Given the description of an element on the screen output the (x, y) to click on. 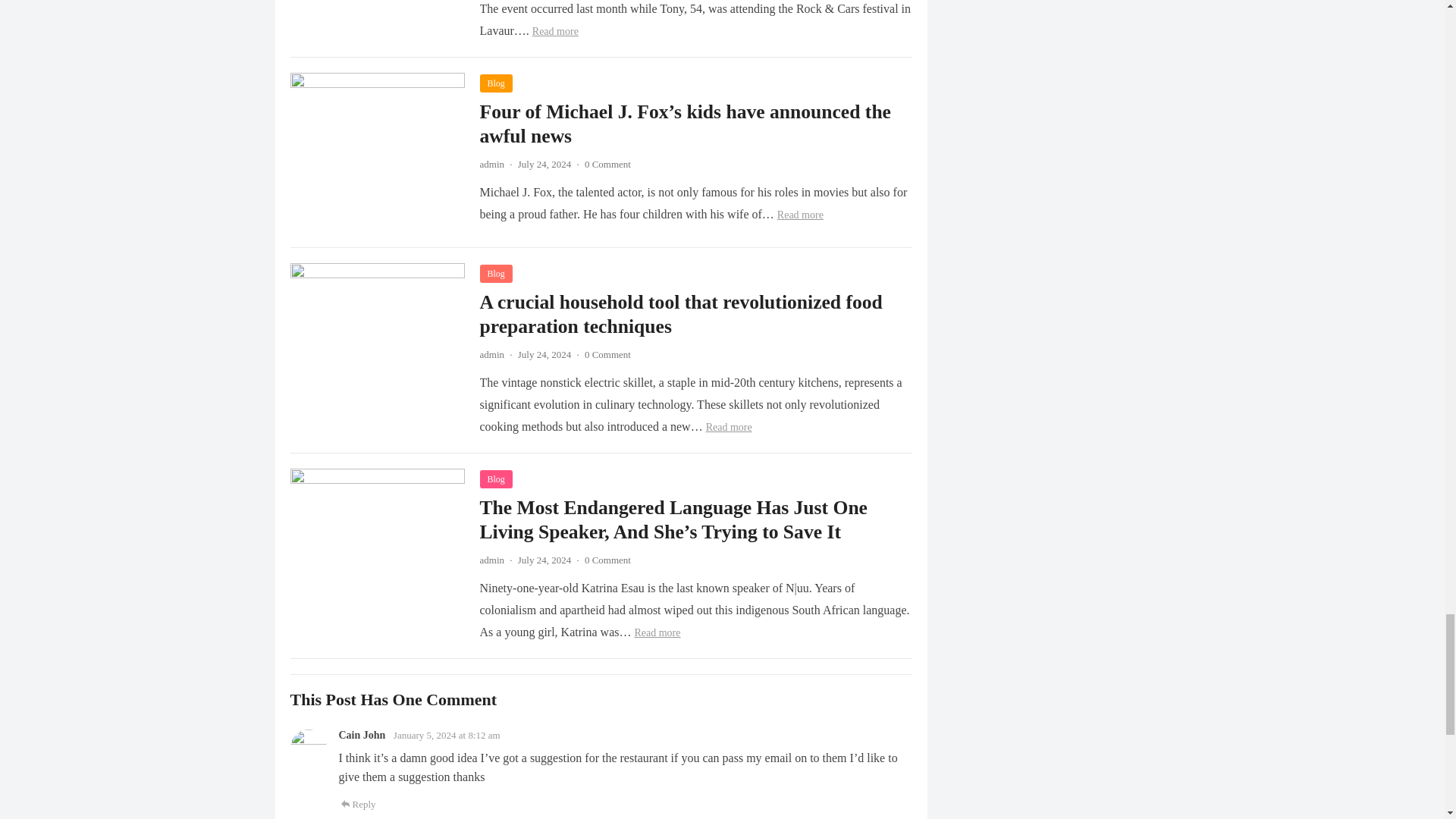
Posts by admin (491, 354)
Read more (555, 30)
Blog (495, 273)
0 Comment (607, 354)
Blog (495, 83)
Posts by admin (491, 163)
Posts by admin (491, 559)
Read more (800, 214)
0 Comment (607, 163)
admin (491, 354)
admin (491, 163)
Read more (729, 427)
